Given the description of an element on the screen output the (x, y) to click on. 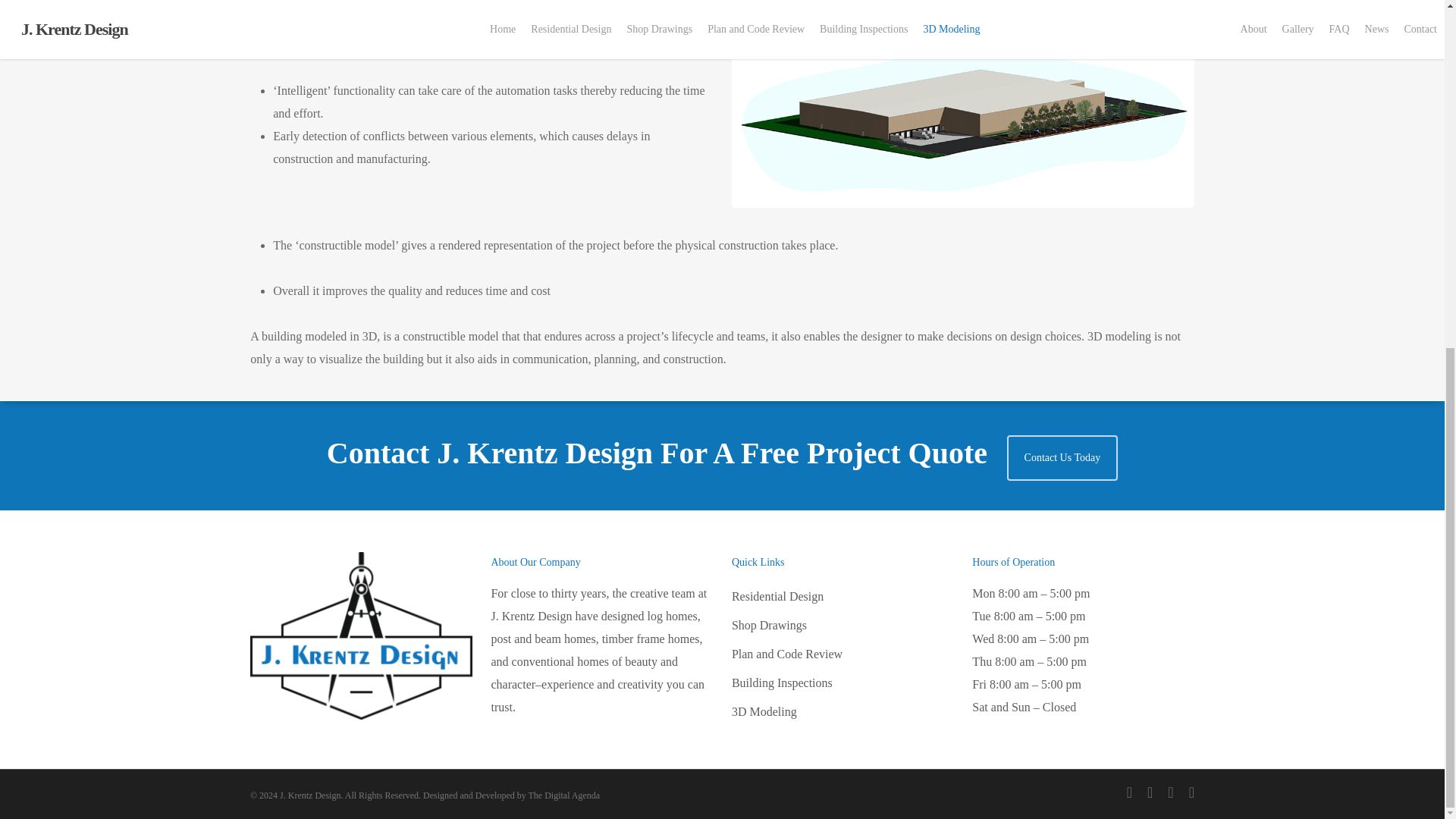
Shop Drawings (842, 24)
Building Inspections (842, 82)
Residential Design (842, 3)
3D Modeling (842, 110)
Plan and Code Review (842, 53)
